Given the description of an element on the screen output the (x, y) to click on. 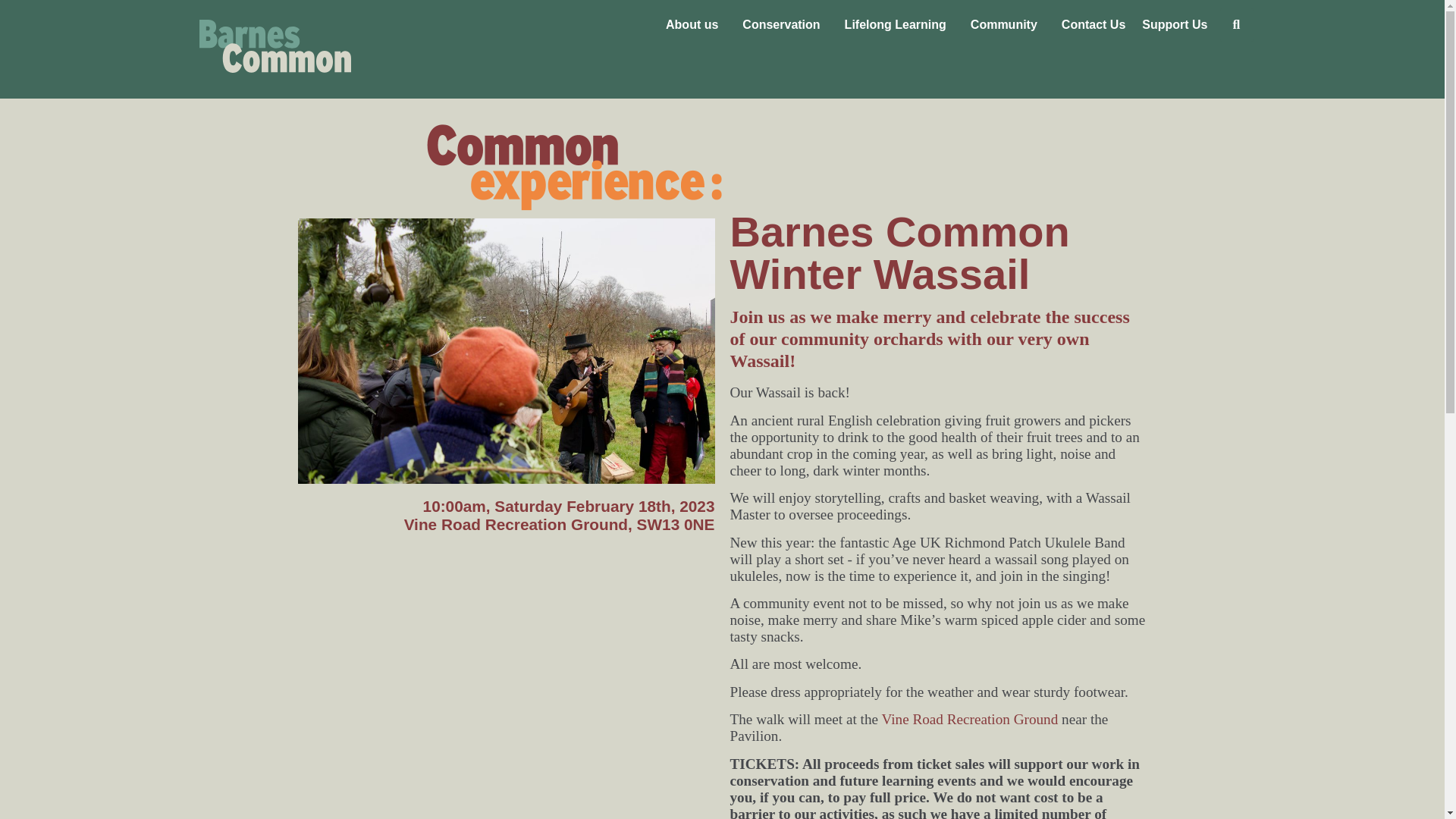
About us (695, 24)
Lifelong Learning (898, 24)
Conservation (784, 24)
Community (1008, 24)
